Given the description of an element on the screen output the (x, y) to click on. 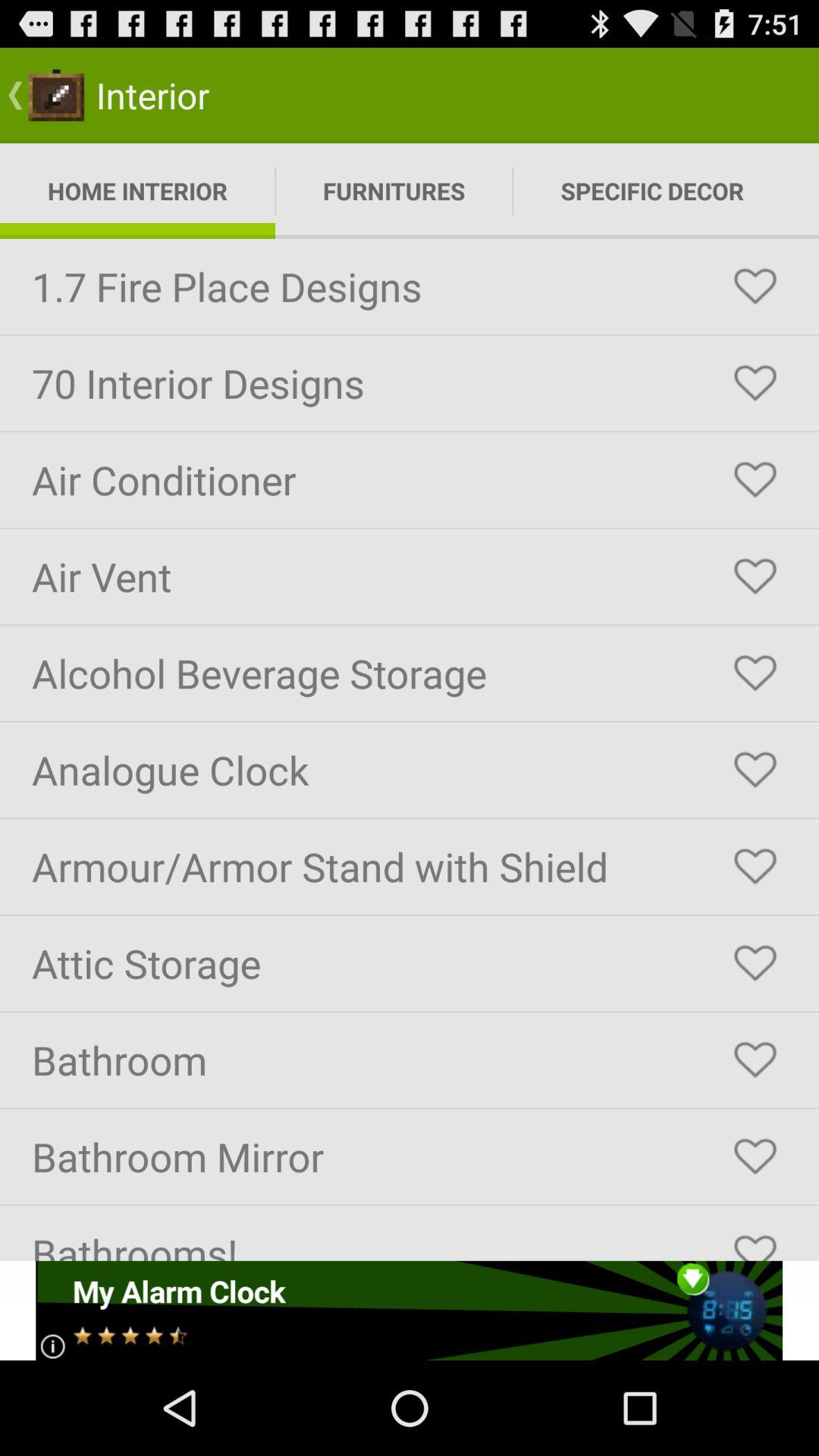
heart this selection (755, 1156)
